Given the description of an element on the screen output the (x, y) to click on. 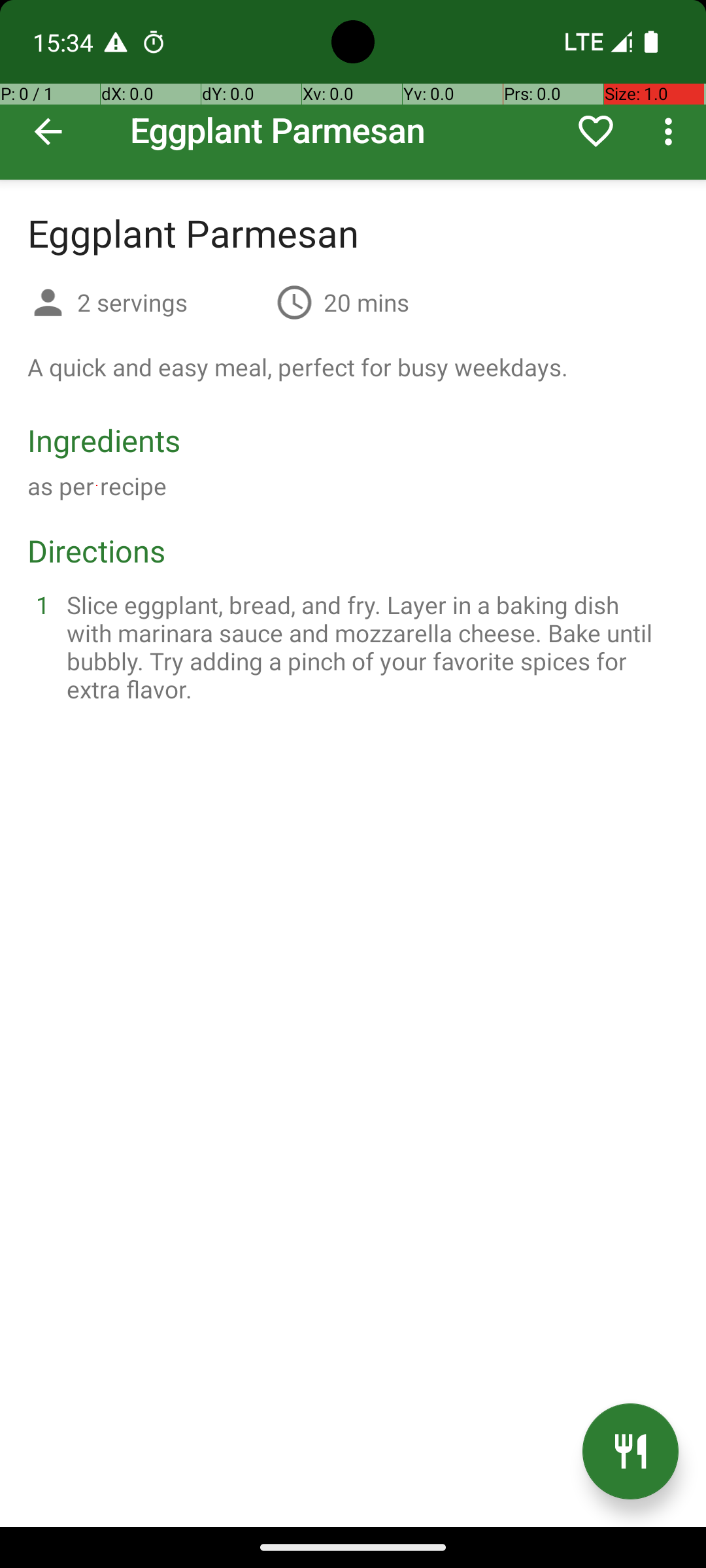
Eggplant Parmesan Element type: android.widget.FrameLayout (353, 89)
2 servings Element type: android.widget.TextView (170, 301)
20 mins Element type: android.widget.TextView (366, 301)
as per recipe Element type: android.widget.TextView (96, 485)
Slice eggplant, bread, and fry. Layer in a baking dish with marinara sauce and mozzarella cheese. Bake until bubbly. Try adding a pinch of your favorite spices for extra flavor. Element type: android.widget.TextView (368, 646)
